Given the description of an element on the screen output the (x, y) to click on. 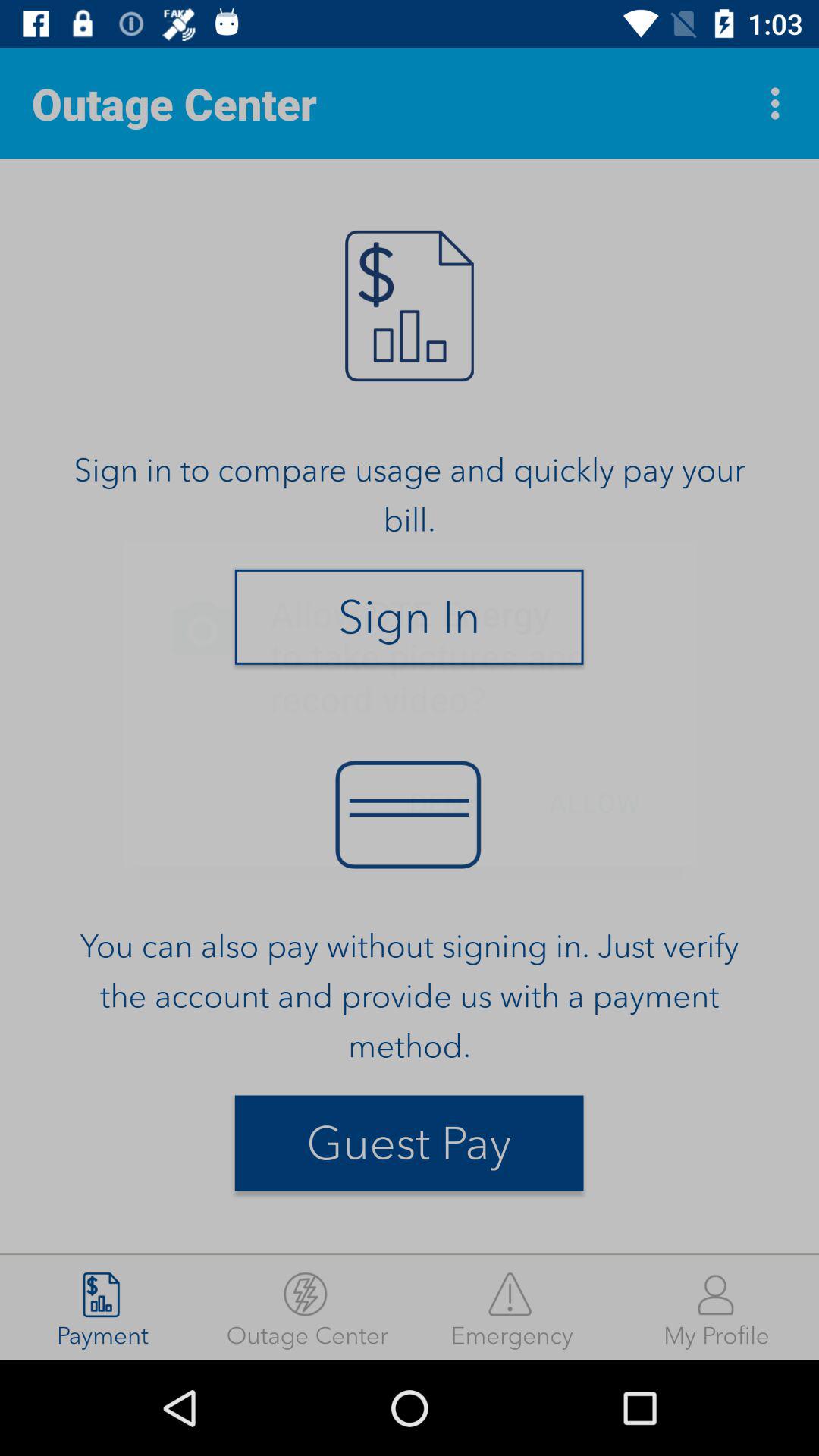
click the item to the left of the my profile (511, 1307)
